Given the description of an element on the screen output the (x, y) to click on. 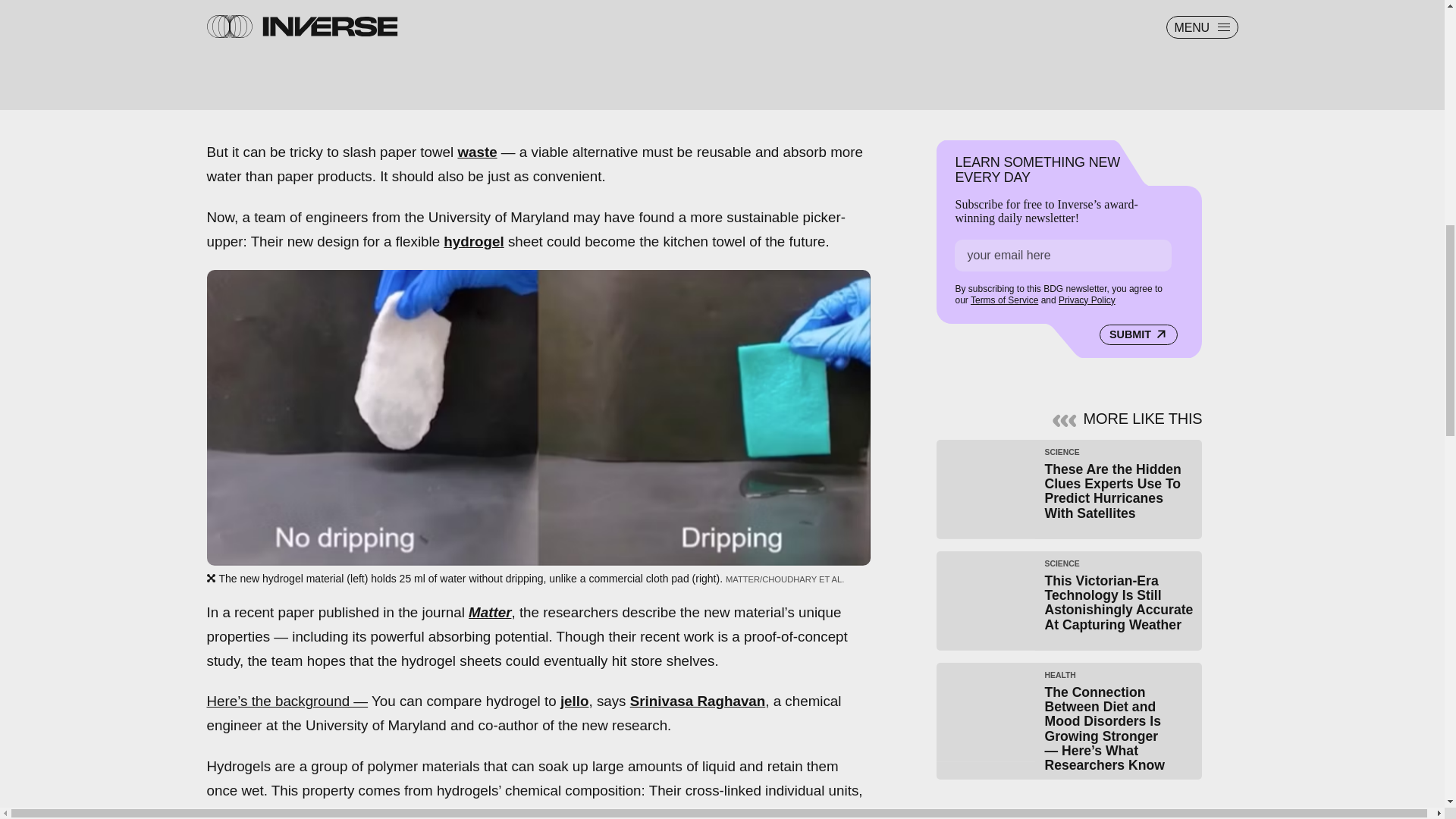
Terms of Service (1004, 299)
hydrogel (473, 241)
Privacy Policy (1086, 299)
SUBMIT (1138, 334)
Srinivasa Raghavan (697, 700)
jello (574, 700)
waste (476, 151)
Matter (489, 611)
